Given the description of an element on the screen output the (x, y) to click on. 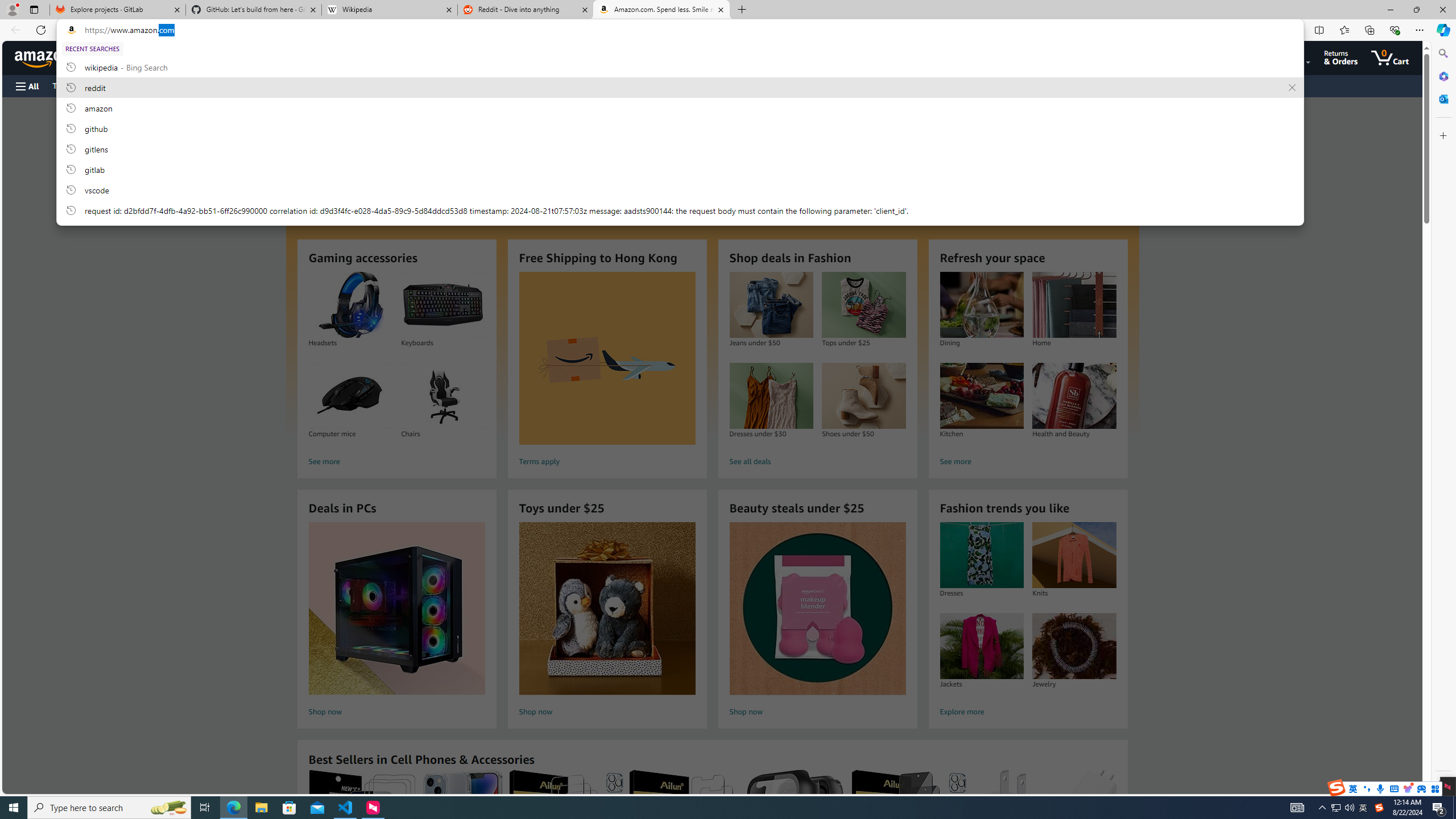
Dresses under $30 (770, 395)
Settings and more (Alt+F) (1419, 29)
Amazon.com. Spend less. Smile more. (660, 9)
Customer Service (145, 85)
Copilot (Ctrl+Shift+.) (1442, 29)
Reddit - Dive into anything (525, 9)
Jeans under $50 (771, 304)
Close tab (720, 9)
Computer mice (350, 395)
Amazon (43, 57)
